Given the description of an element on the screen output the (x, y) to click on. 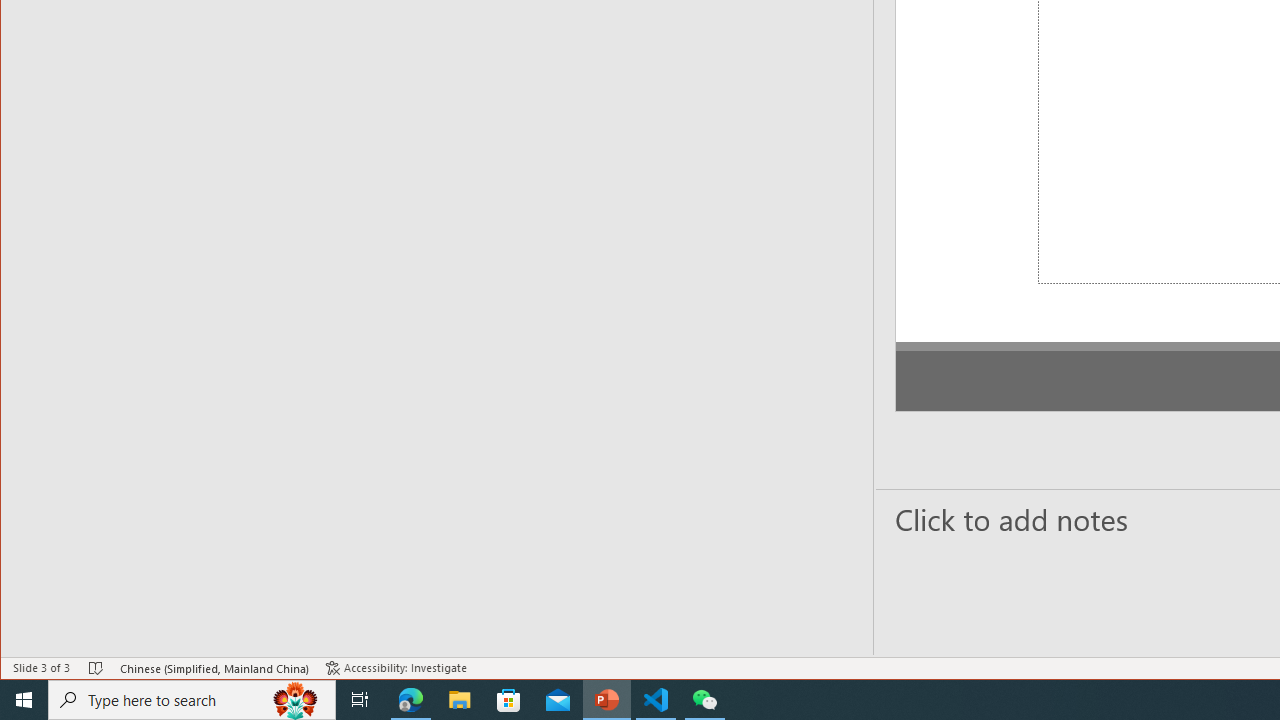
WeChat - 1 running window (704, 699)
